Given the description of an element on the screen output the (x, y) to click on. 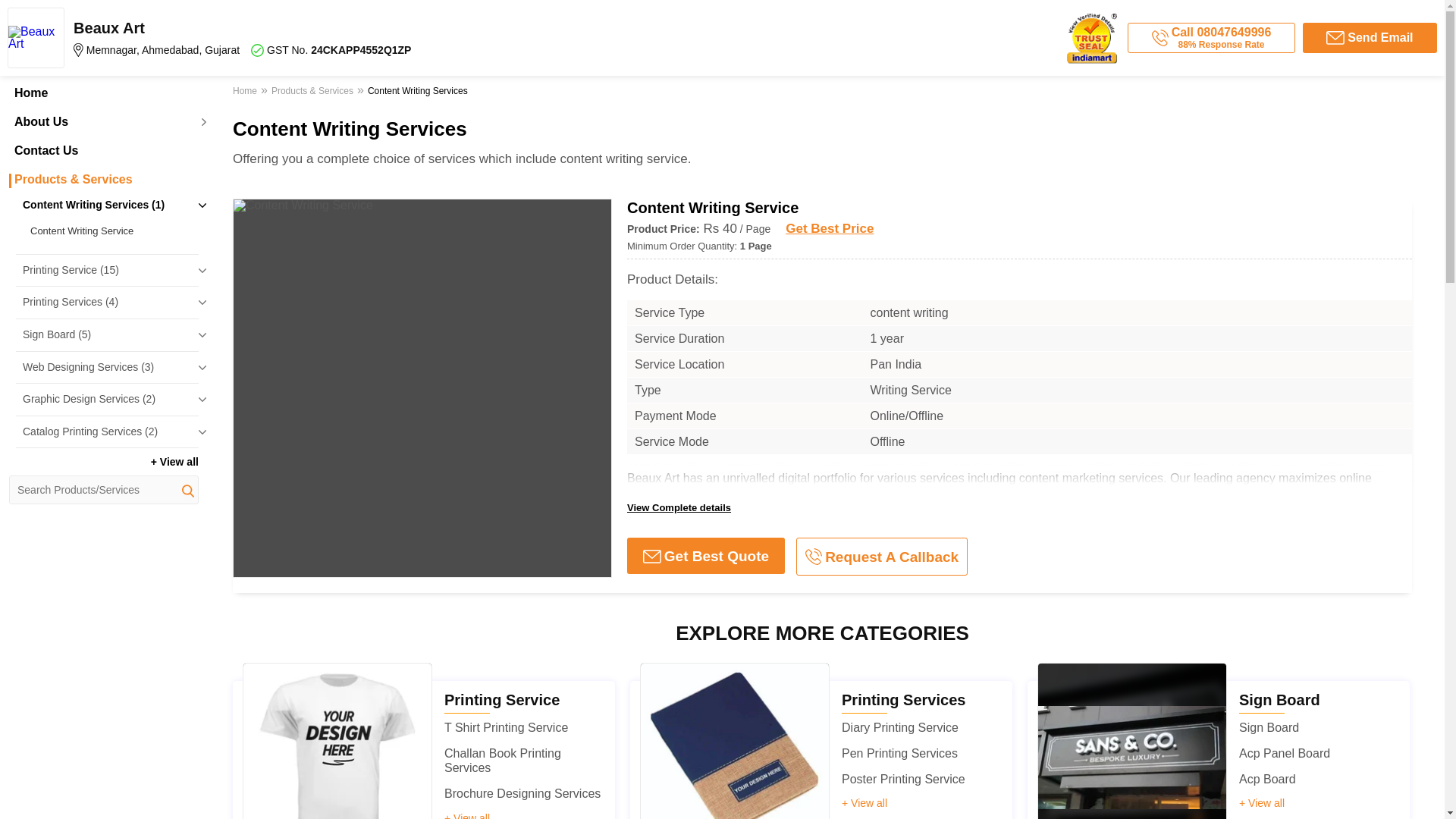
Home (103, 92)
Home (246, 92)
Content Writing Service (110, 231)
Contact Us (103, 150)
About Us (103, 121)
